Given the description of an element on the screen output the (x, y) to click on. 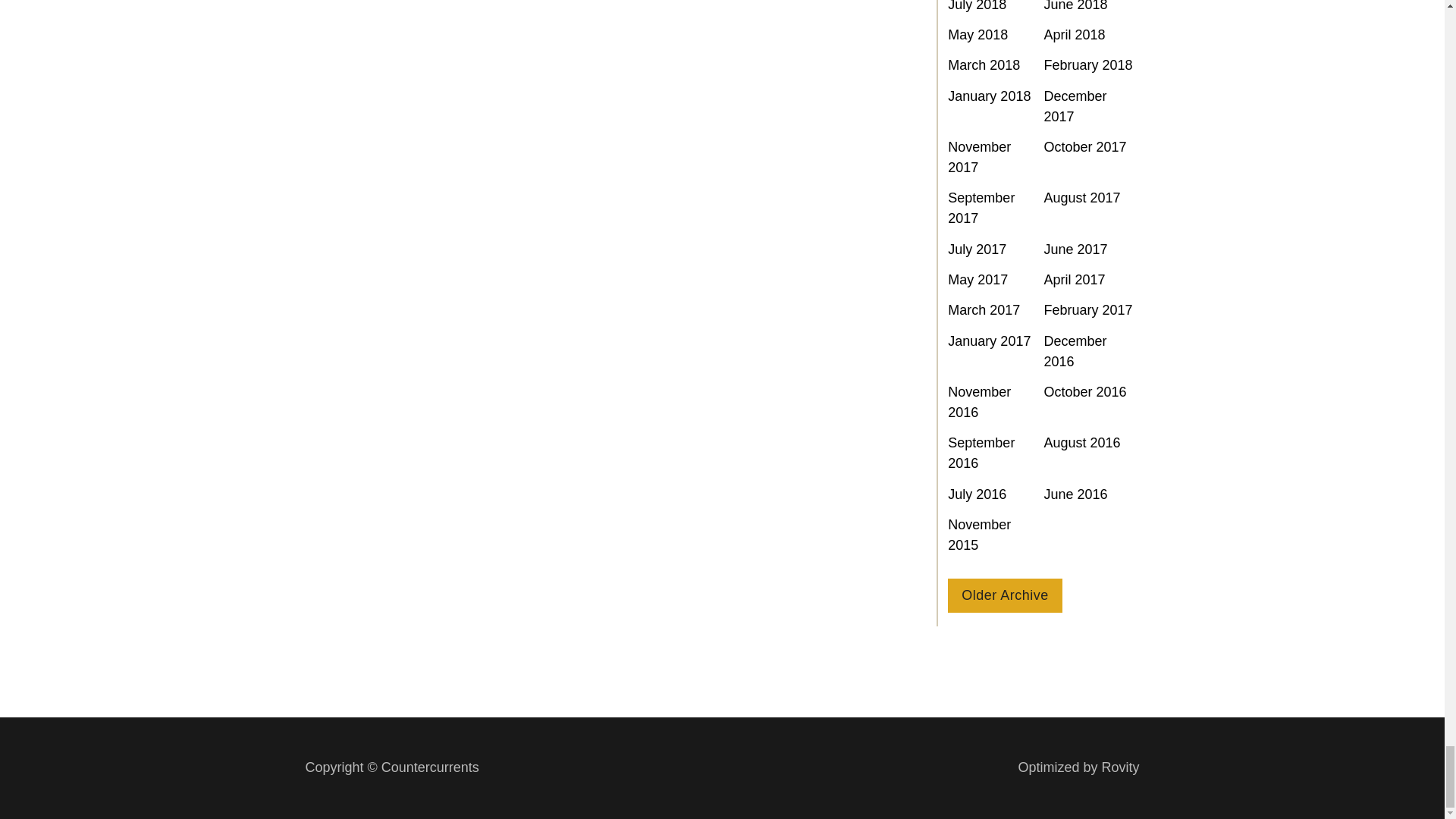
Rovity (1077, 767)
